Given the description of an element on the screen output the (x, y) to click on. 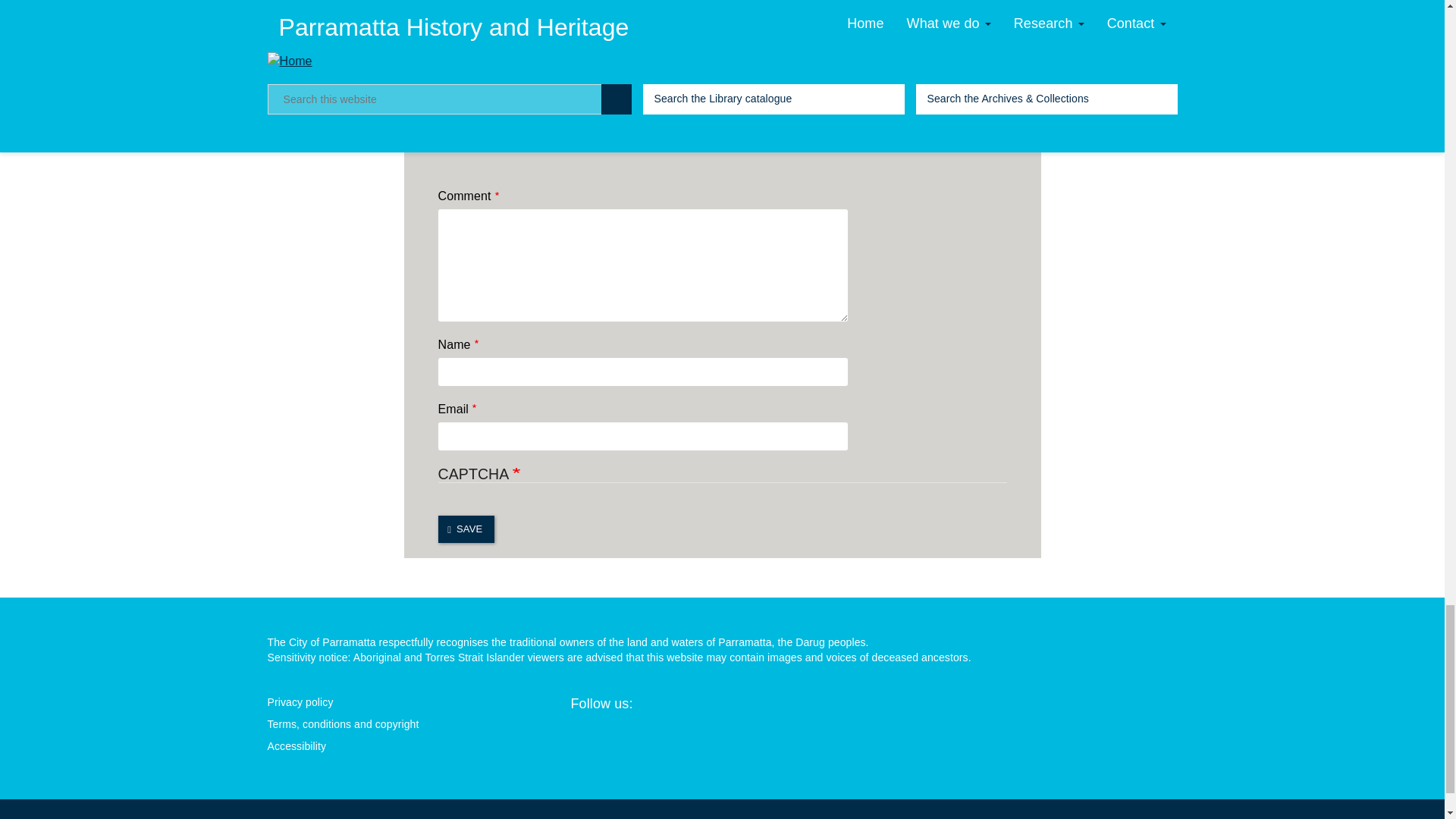
Accessibility (418, 746)
SAVE (466, 528)
Privacy policy (418, 702)
Terms,  conditions and copyright (418, 724)
